Given the description of an element on the screen output the (x, y) to click on. 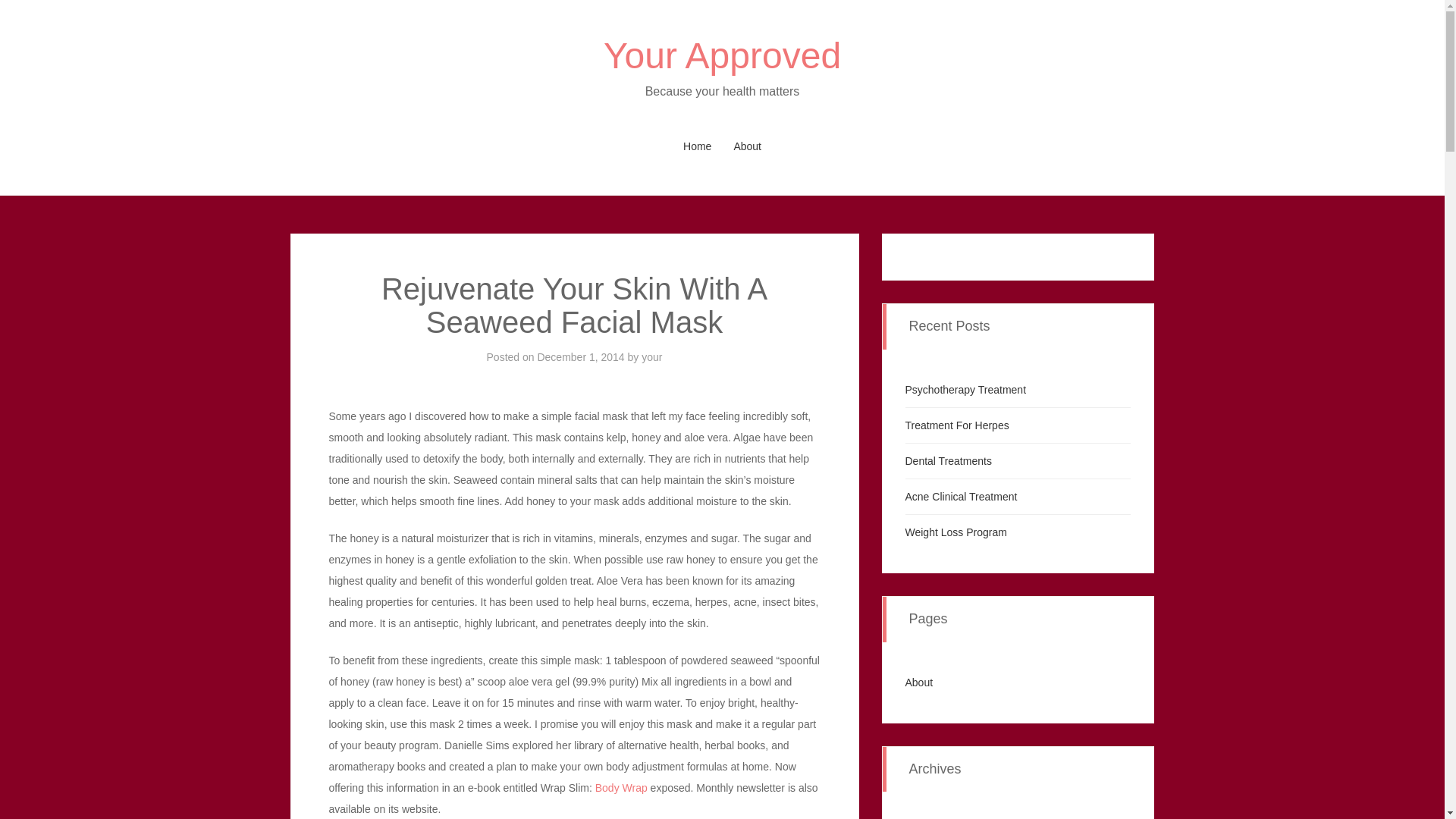
About (746, 146)
Dental Treatments (948, 460)
Your Approved (722, 56)
December 1, 2014 (580, 357)
Weight Loss Program (956, 532)
your (652, 357)
Home (697, 146)
Psychotherapy Treatment (965, 389)
About (919, 682)
